Given the description of an element on the screen output the (x, y) to click on. 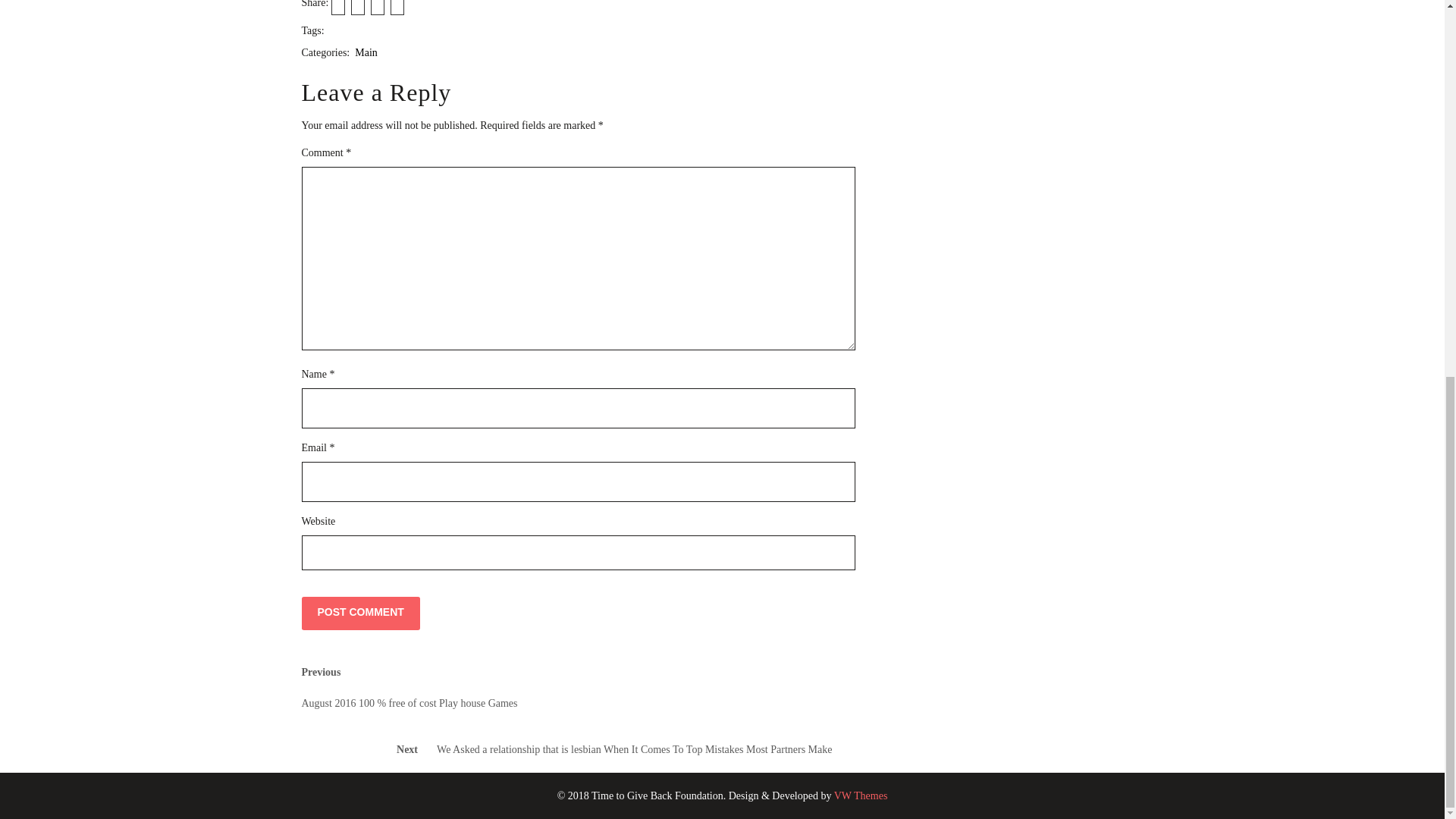
Main (366, 52)
Post Comment (360, 613)
VW Themes (858, 795)
Post Comment (360, 613)
